Given the description of an element on the screen output the (x, y) to click on. 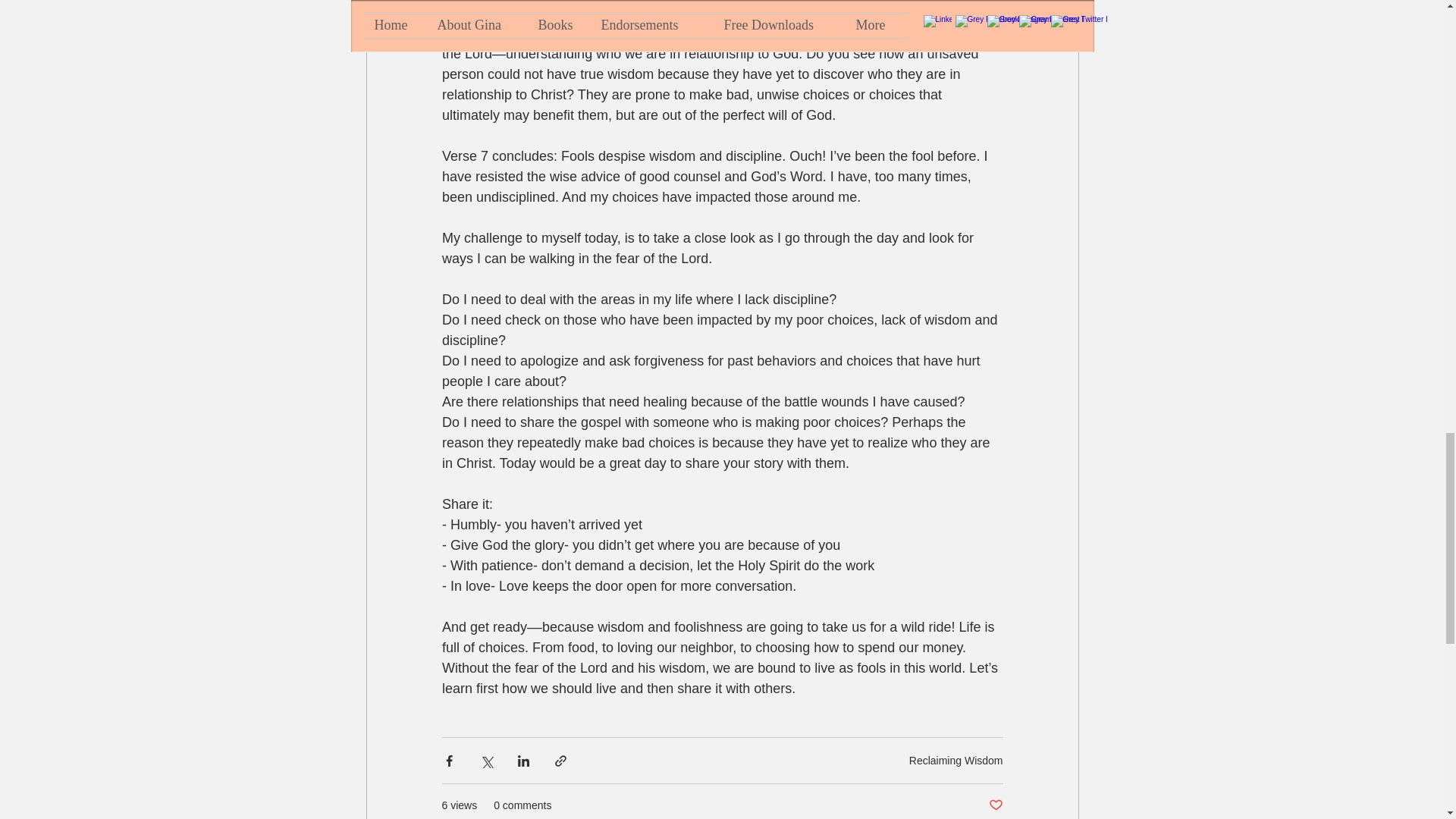
Reclaiming Wisdom (955, 760)
Post not marked as liked (995, 805)
